Given the description of an element on the screen output the (x, y) to click on. 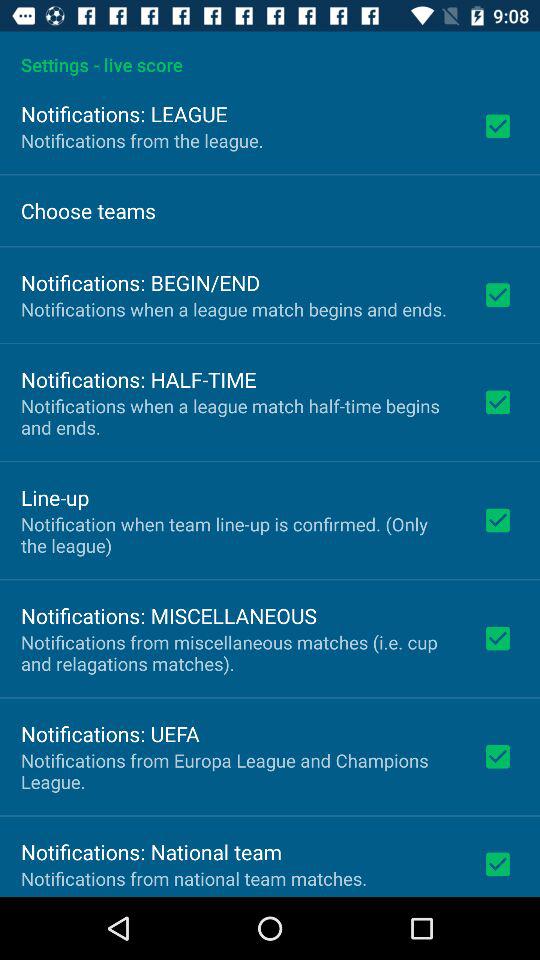
jump to settings - live score app (270, 54)
